Given the description of an element on the screen output the (x, y) to click on. 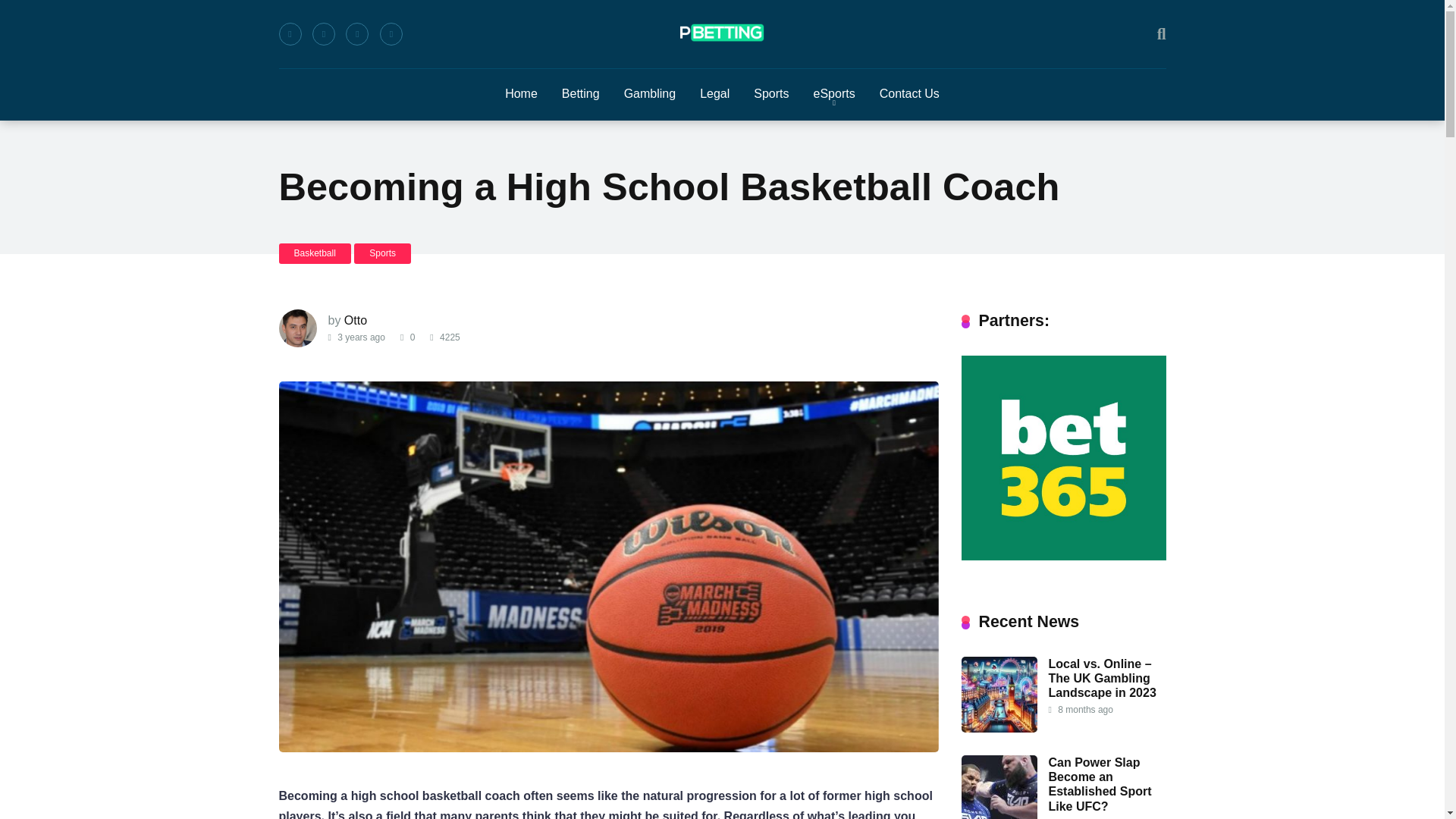
eSports (834, 94)
Home (521, 94)
Sports (770, 94)
Basketball (314, 253)
Reddit (391, 33)
Posts by Otto (354, 319)
pBetting (722, 33)
Legal (714, 94)
Contact Us (909, 94)
Otto (354, 319)
Twitter (323, 33)
Gambling (649, 94)
YouTube (357, 33)
Facebook (290, 33)
Betting (580, 94)
